Given the description of an element on the screen output the (x, y) to click on. 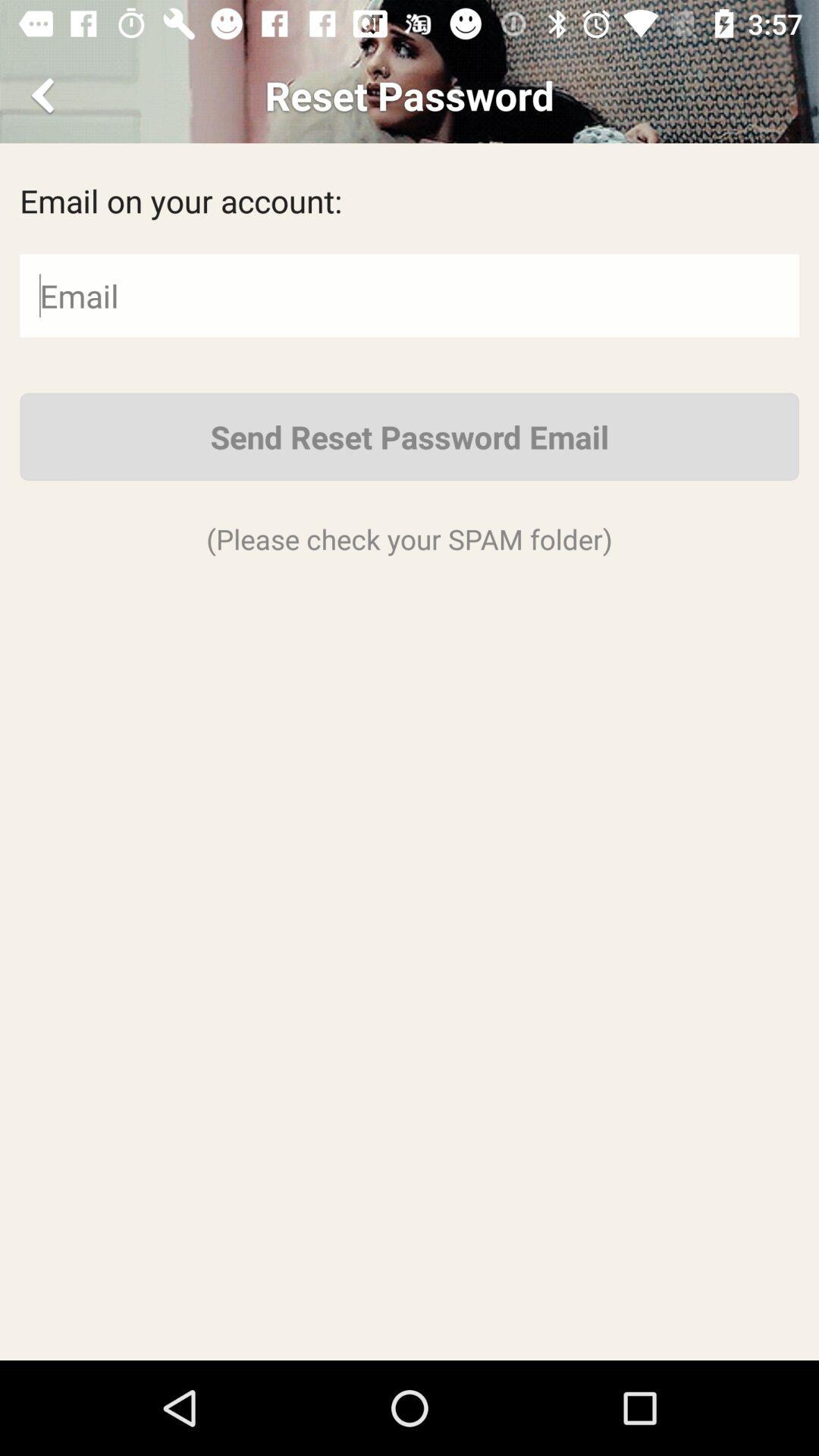
click email (409, 295)
